Given the description of an element on the screen output the (x, y) to click on. 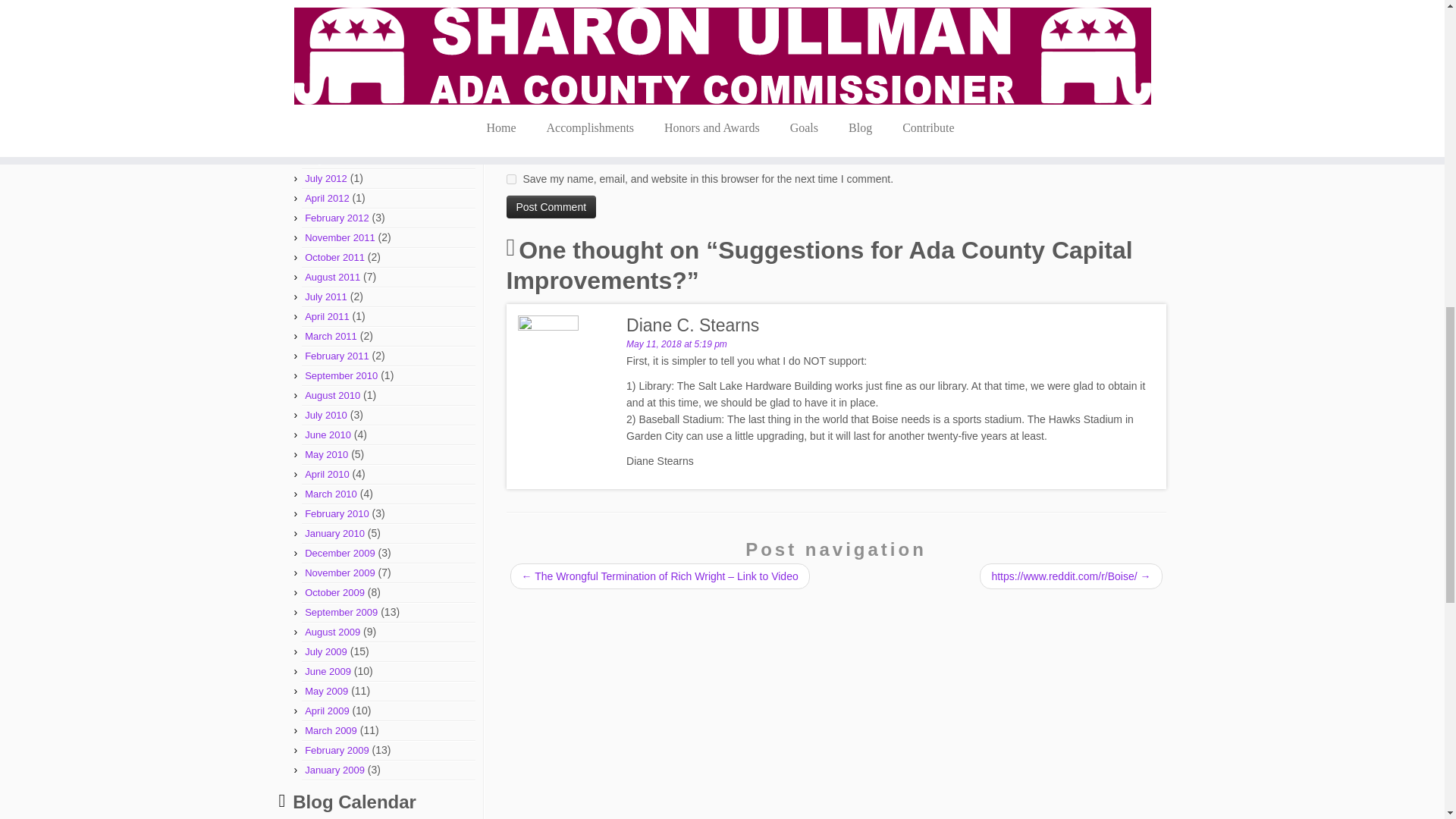
November 2012 (339, 138)
January 2016 (334, 119)
February 2022 (336, 3)
yes (511, 179)
August 2012 (331, 158)
July 2012 (325, 178)
May 2018 (325, 40)
September 2018 (340, 20)
February 2016 (336, 99)
April 2012 (326, 197)
April 2018 (326, 60)
April 2016 (326, 79)
Post Comment (551, 206)
